Given the description of an element on the screen output the (x, y) to click on. 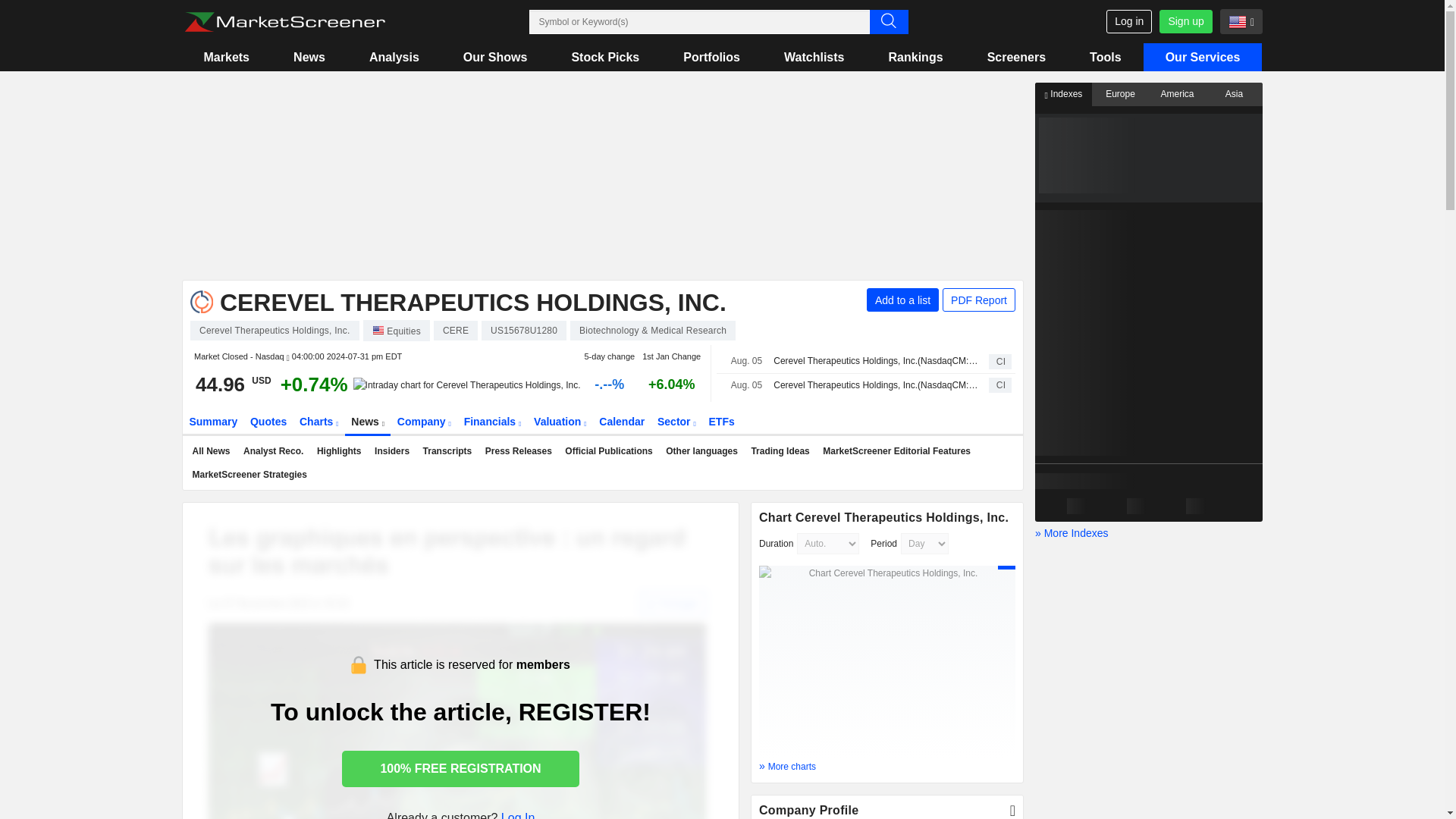
Sign up (1184, 21)
Marketscreener: stock market and financial news (284, 21)
Markets (226, 57)
Log in (1128, 21)
Advanced search (888, 21)
